Given the description of an element on the screen output the (x, y) to click on. 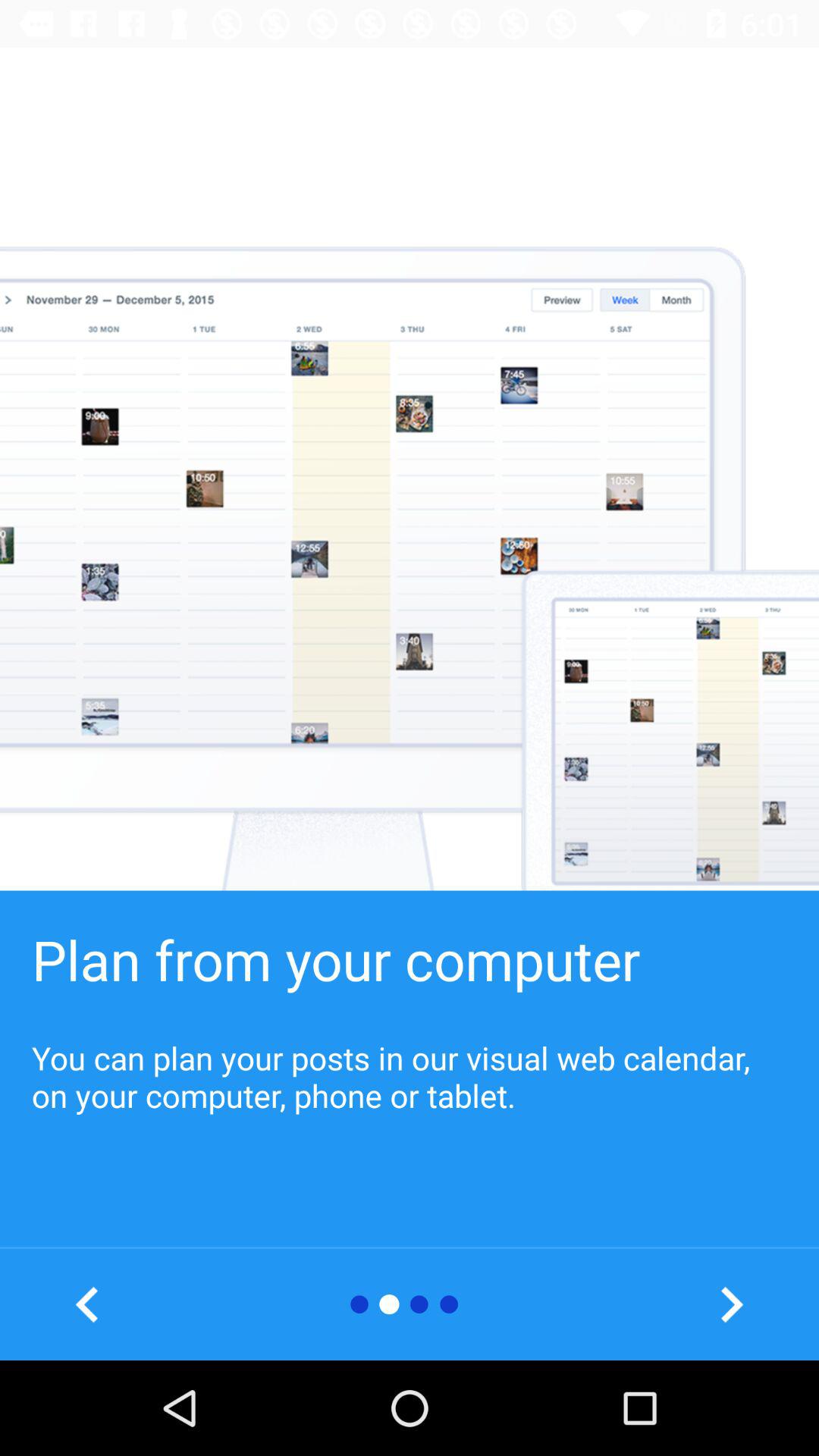
go forward (731, 1304)
